Given the description of an element on the screen output the (x, y) to click on. 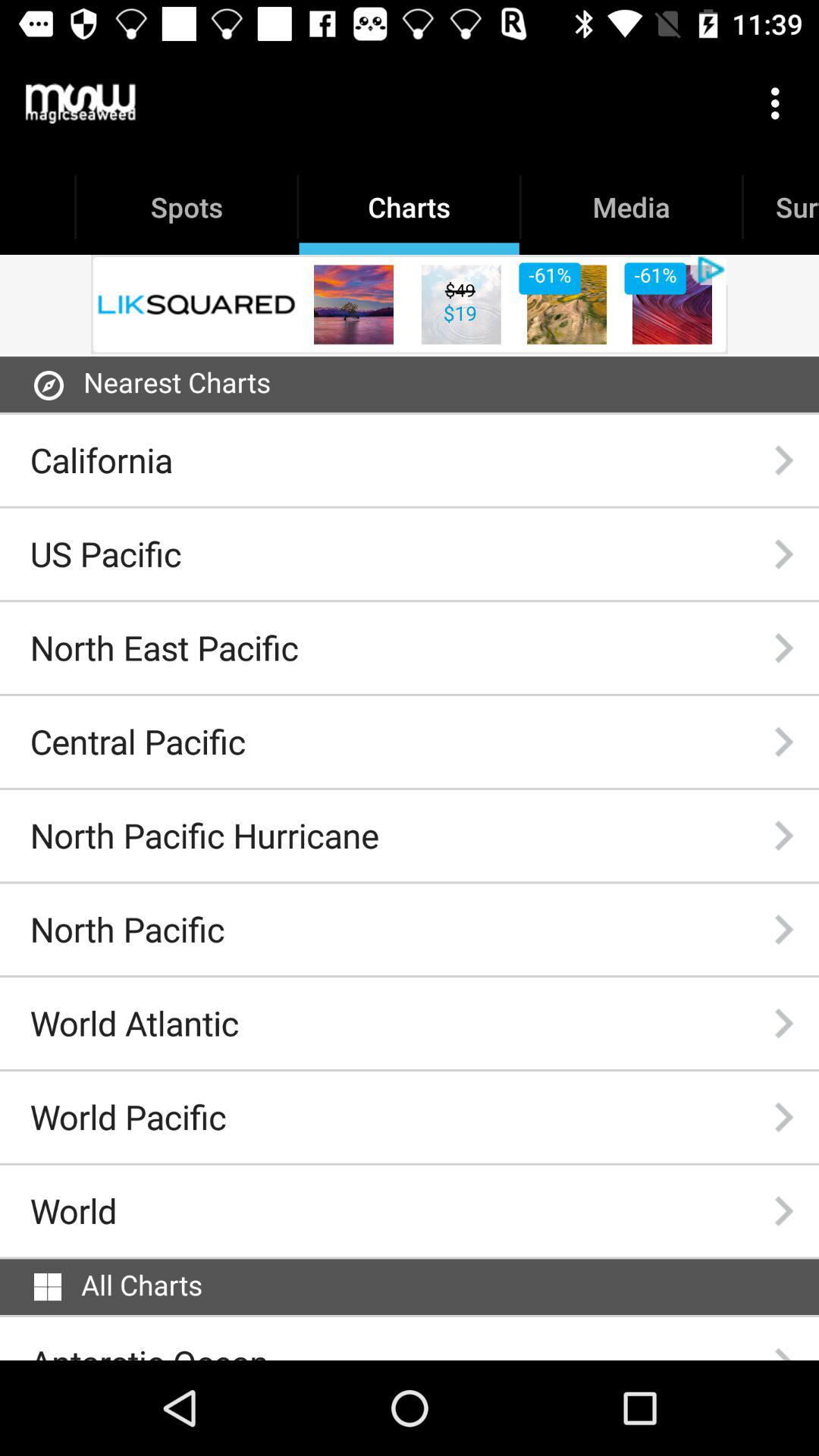
select the icon to the right of the world icon (784, 1211)
